Given the description of an element on the screen output the (x, y) to click on. 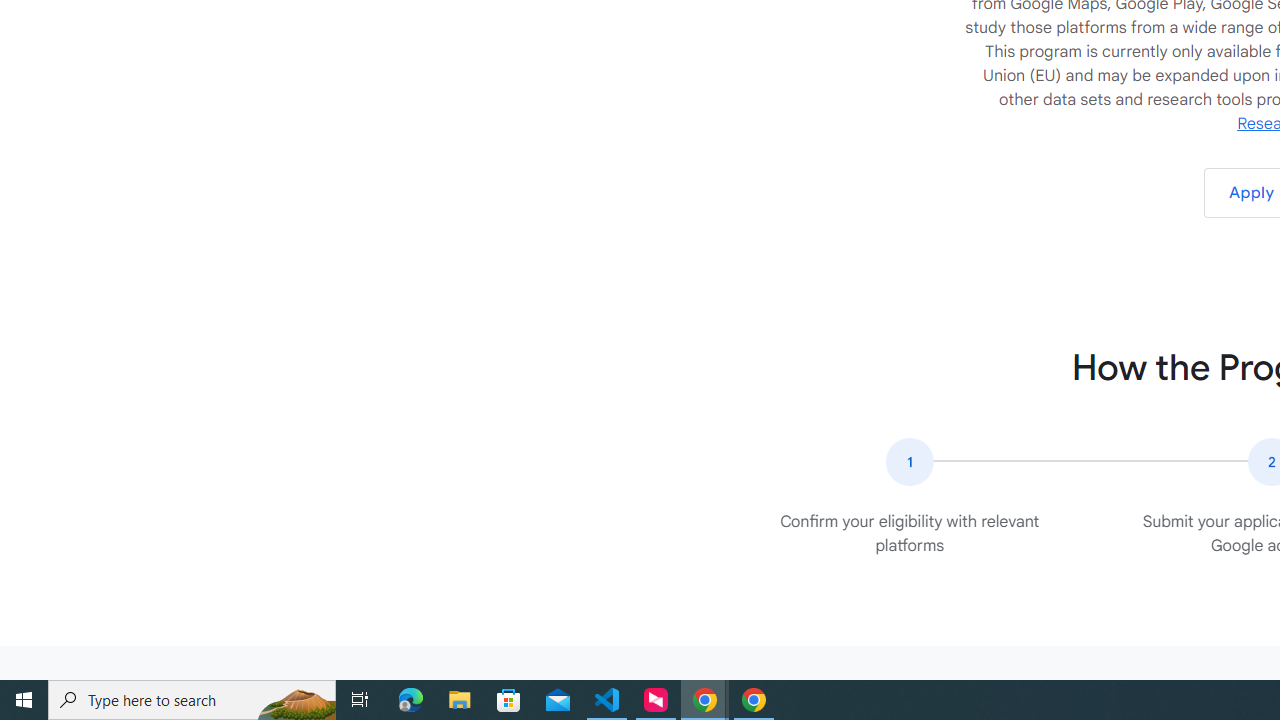
The number one in a circular icon. (909, 461)
